Given the description of an element on the screen output the (x, y) to click on. 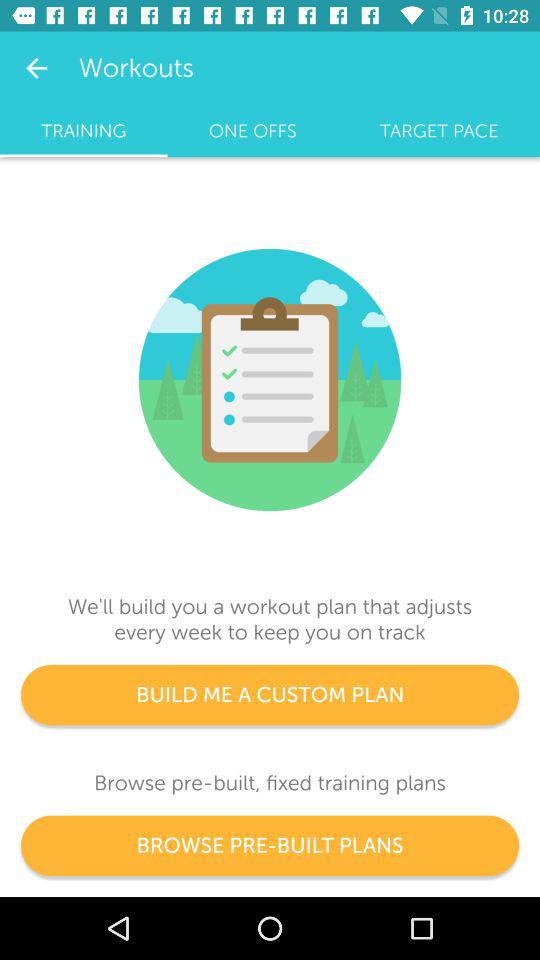
open the target pace item (439, 131)
